Given the description of an element on the screen output the (x, y) to click on. 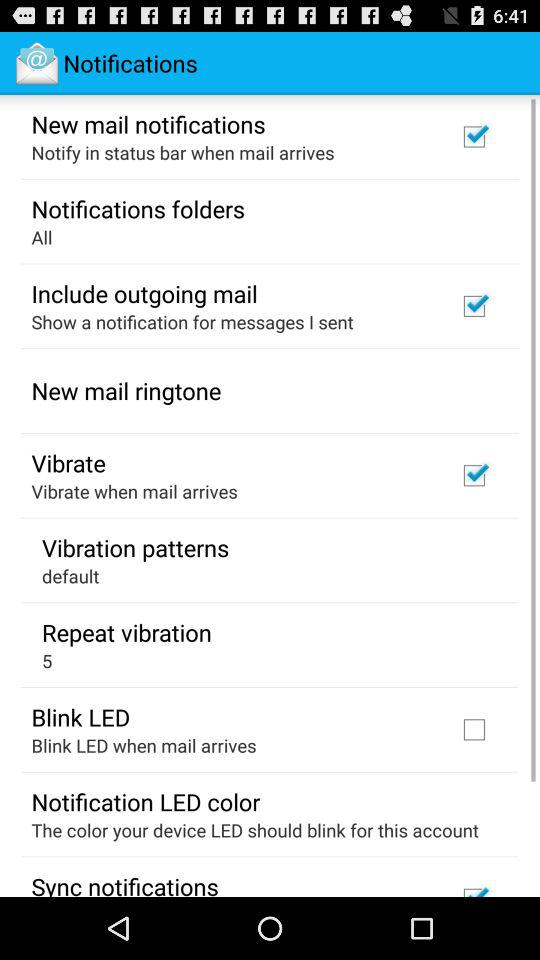
tap the color your (254, 829)
